Given the description of an element on the screen output the (x, y) to click on. 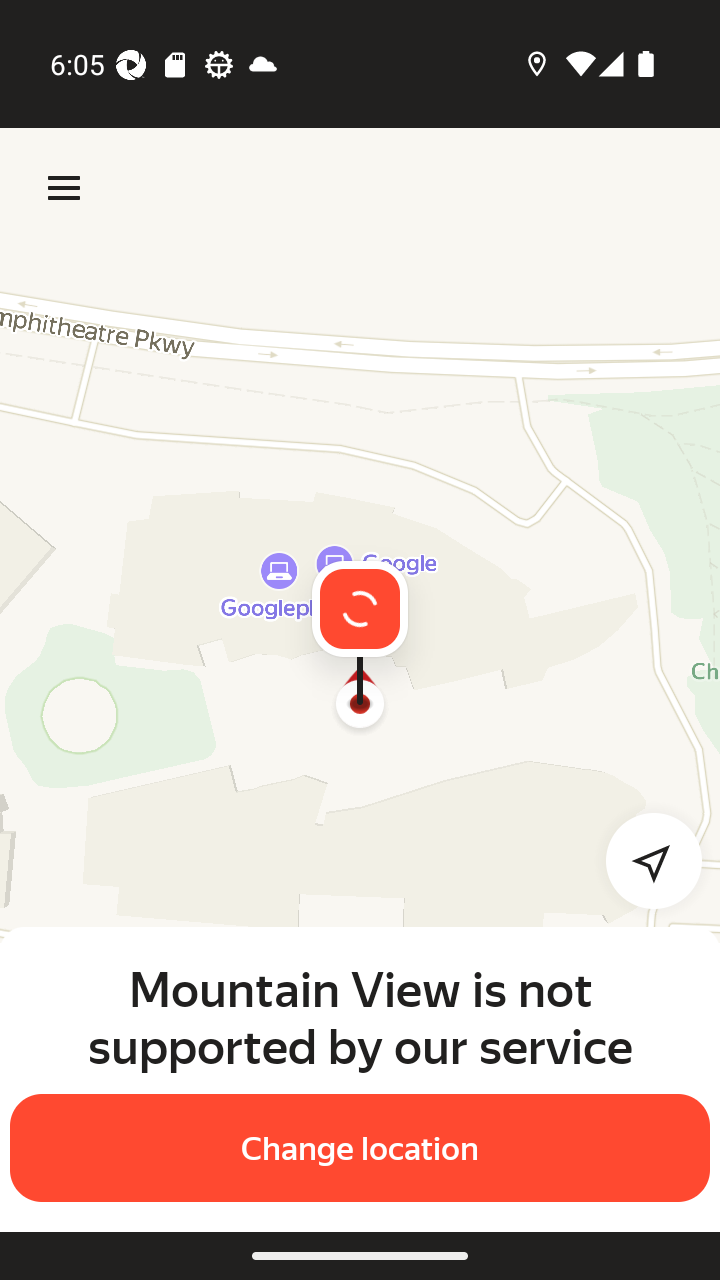
Menu Menu Menu (64, 188)
Detect my location (641, 860)
Mountain View is not supported by our service (360, 1017)
Change location (359, 1147)
